Given the description of an element on the screen output the (x, y) to click on. 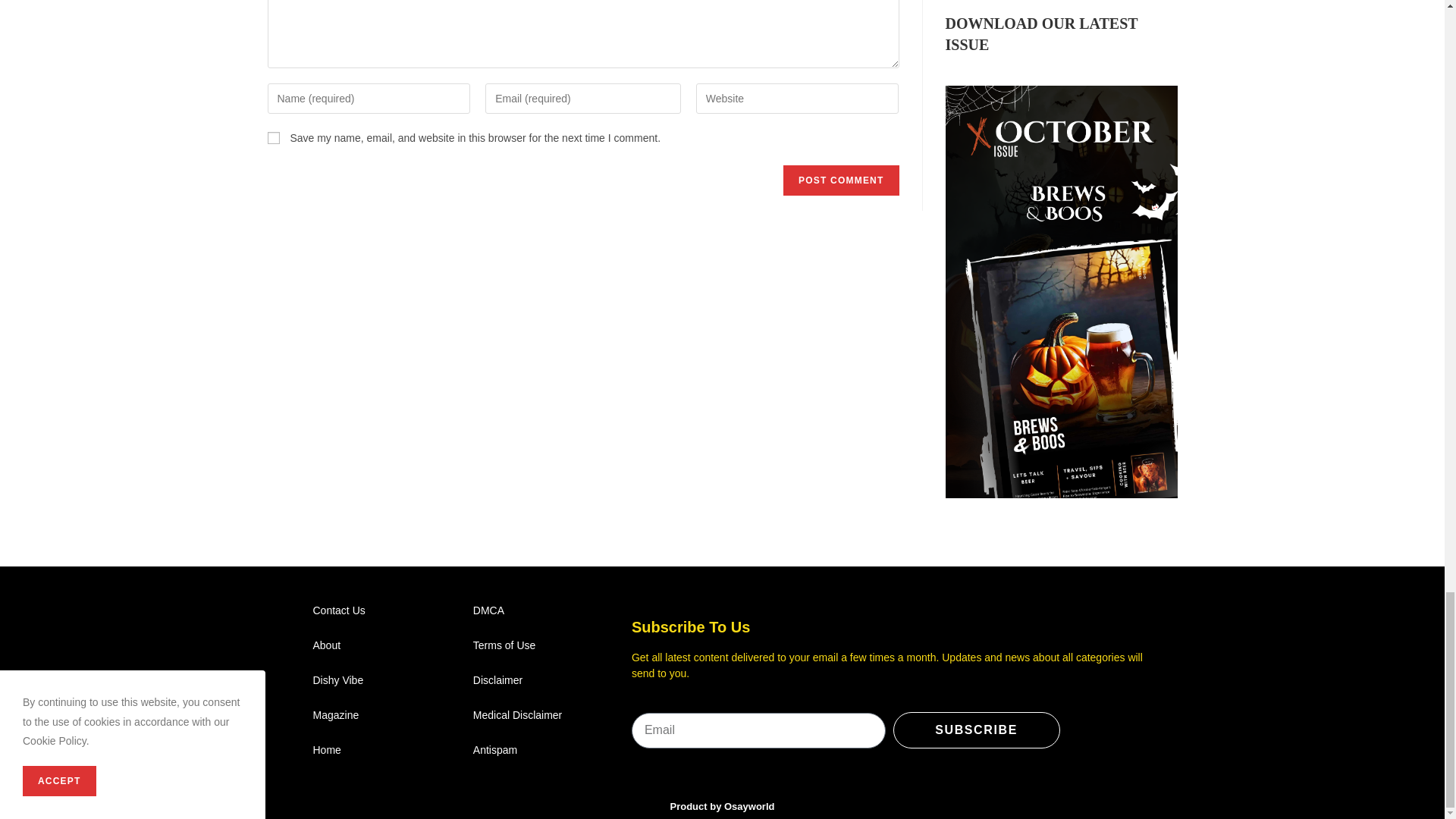
Post Comment (840, 180)
yes (272, 137)
Post Comment (840, 180)
